Given the description of an element on the screen output the (x, y) to click on. 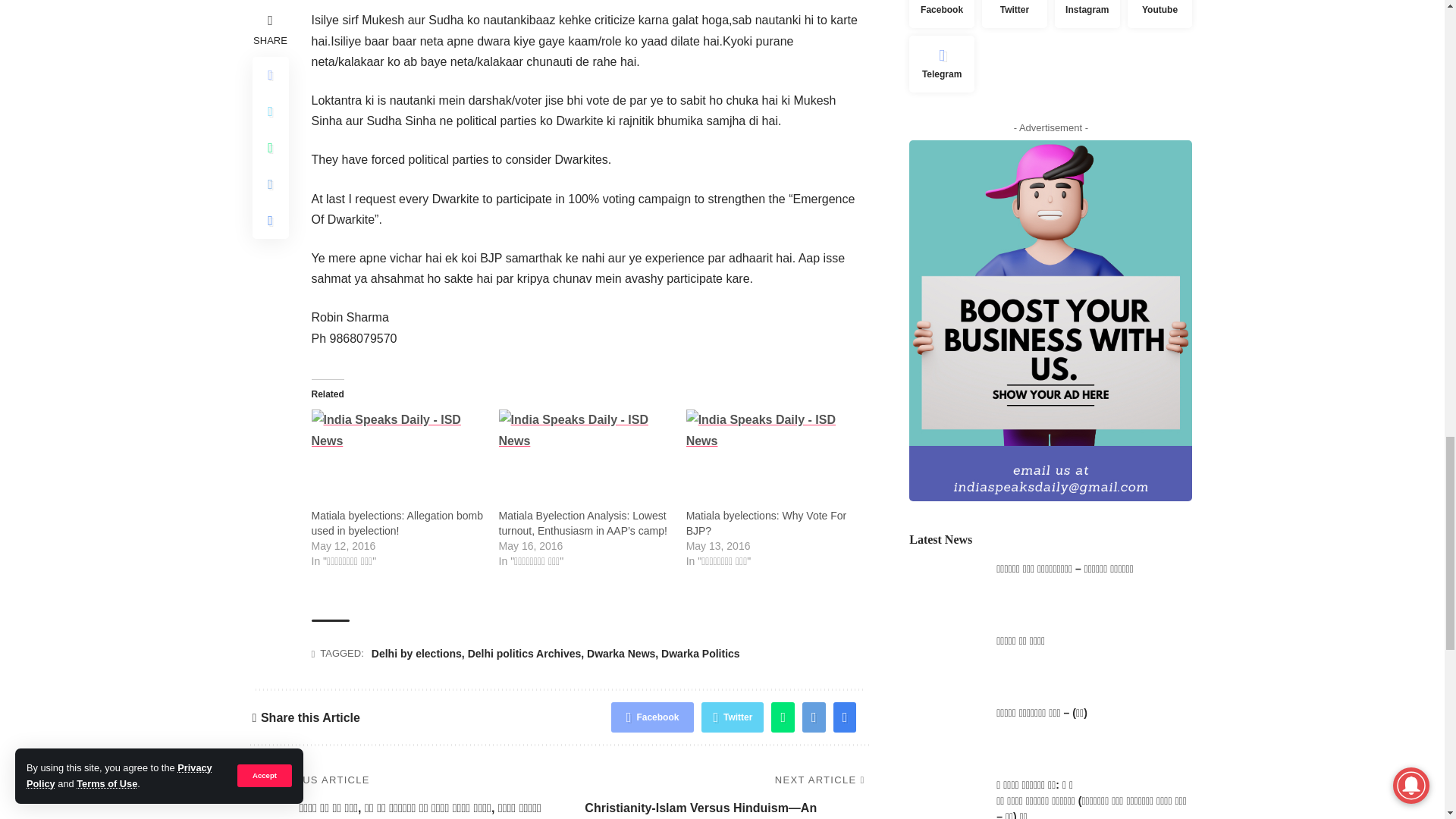
Matiala byelections: Allegation bomb used in byelection! (397, 458)
Matiala byelections: Allegation bomb used in byelection! (396, 523)
